Given the description of an element on the screen output the (x, y) to click on. 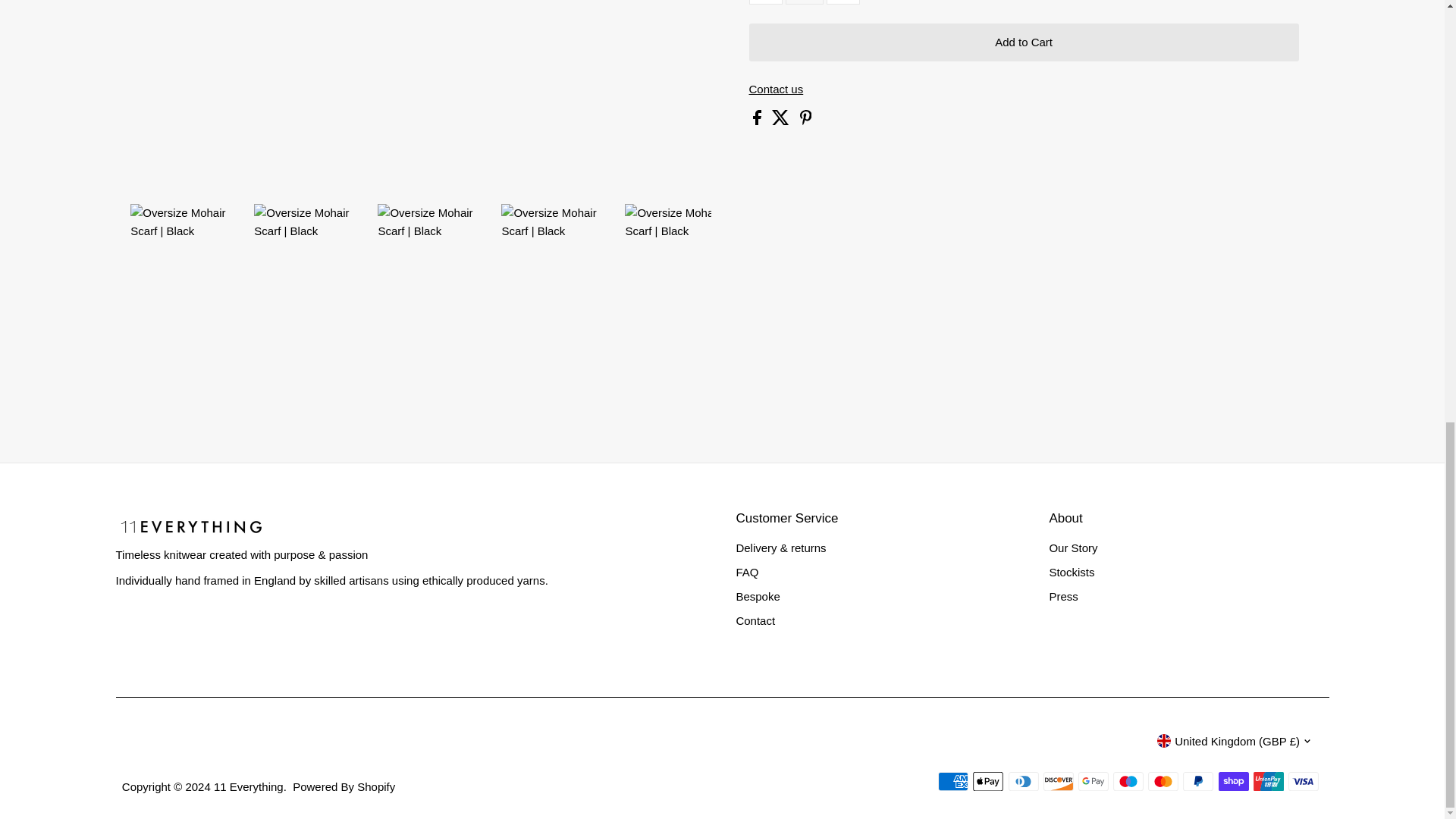
1 (805, 2)
Add to Cart (1023, 42)
